Given the description of an element on the screen output the (x, y) to click on. 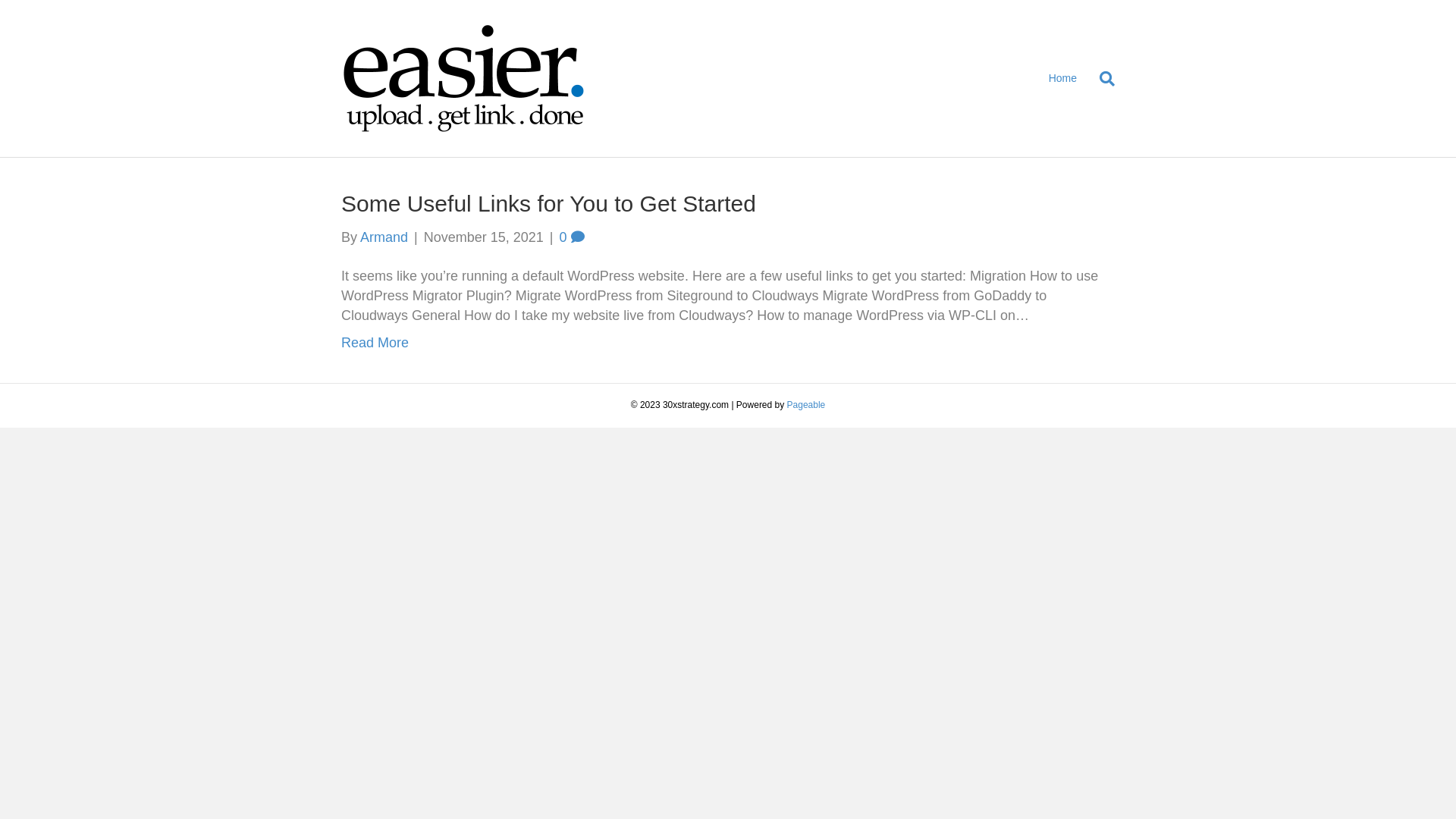
Read More Element type: text (374, 342)
Armand Element type: text (383, 236)
Home Element type: text (1062, 78)
0 Element type: text (571, 236)
Pageable Element type: text (806, 404)
Some Useful Links for You to Get Started Element type: text (548, 203)
